Given the description of an element on the screen output the (x, y) to click on. 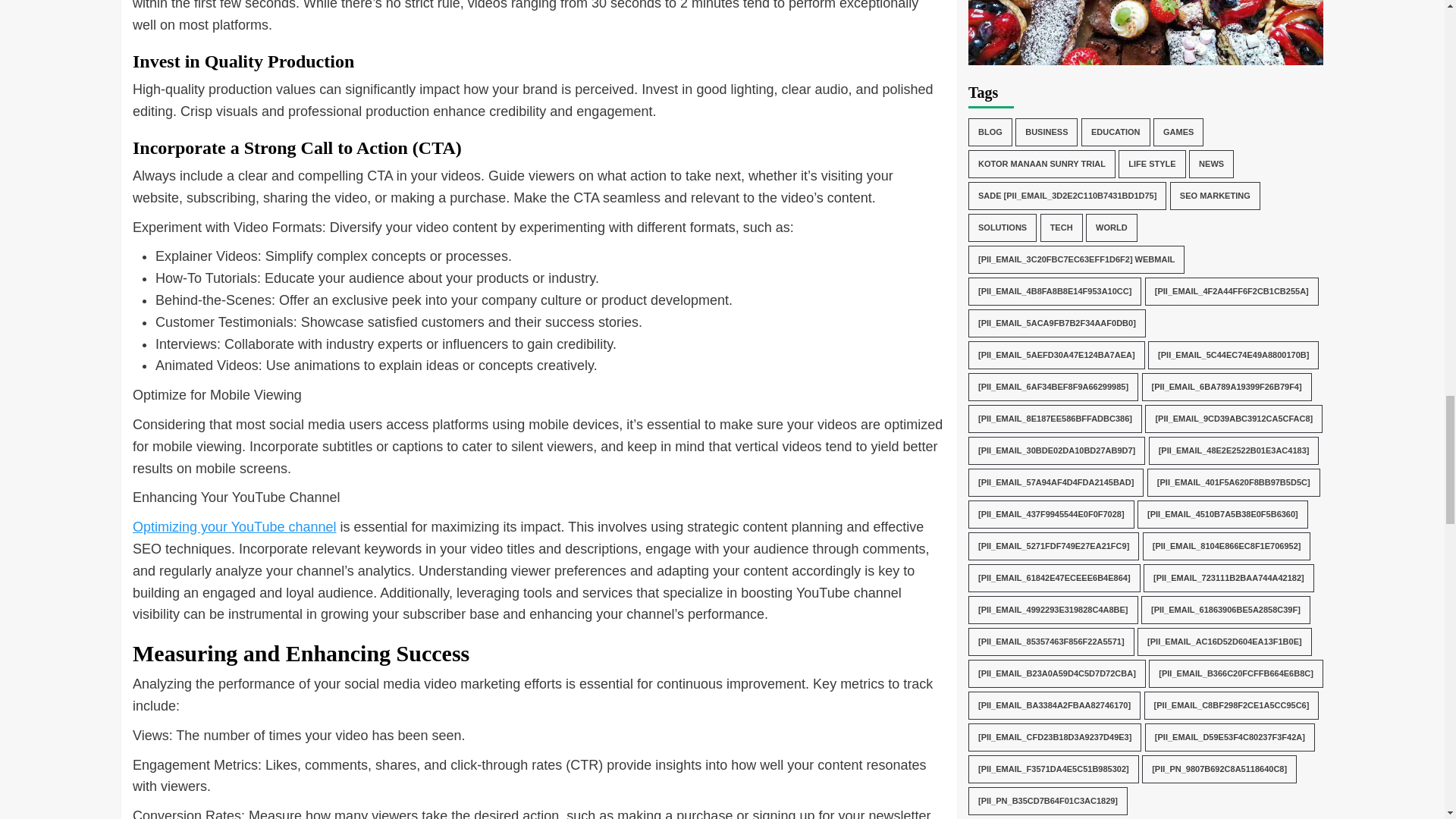
Optimizing your YouTube channel (234, 526)
